Given the description of an element on the screen output the (x, y) to click on. 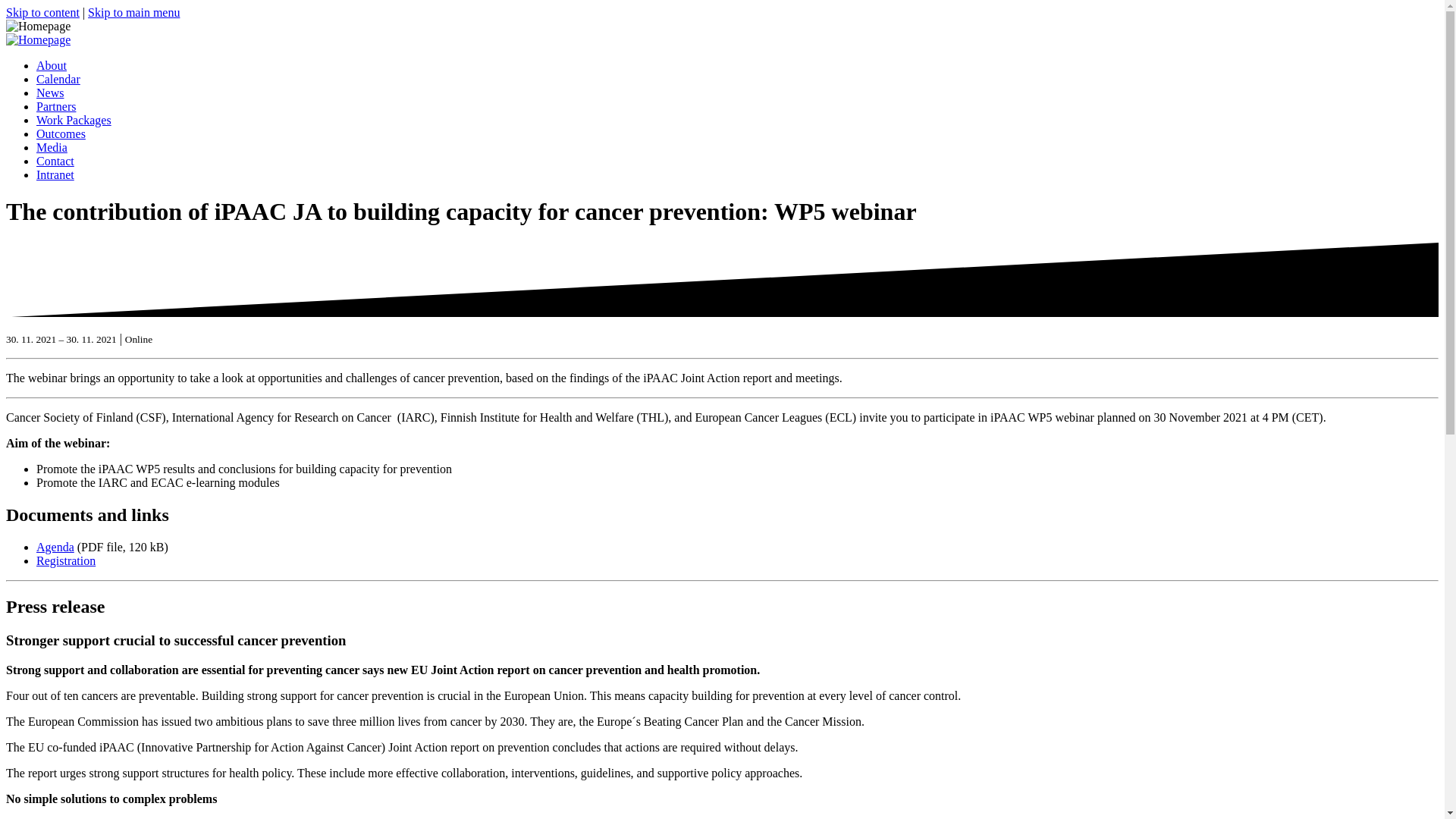
Work Packages (74, 119)
Registration (66, 560)
Media (51, 146)
Outcomes (60, 133)
News (50, 92)
Skip to content (42, 11)
Agenda (55, 546)
Contact (55, 160)
About (51, 65)
Intranet (55, 174)
Skip to content (42, 11)
Calendar (58, 78)
Skip to main menu (133, 11)
Partners (55, 106)
